Given the description of an element on the screen output the (x, y) to click on. 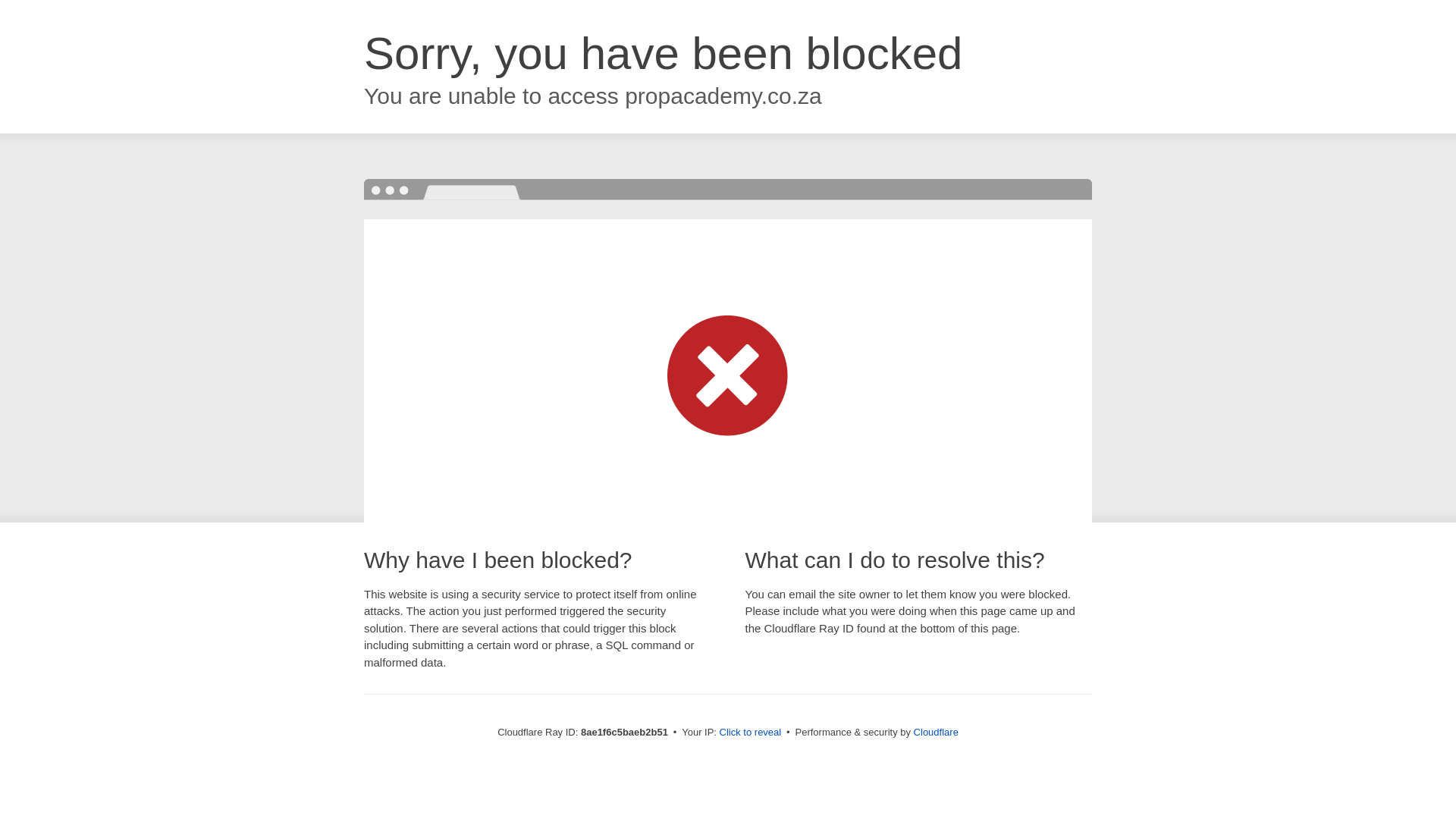
Click to reveal (750, 732)
Cloudflare (936, 731)
